Given the description of an element on the screen output the (x, y) to click on. 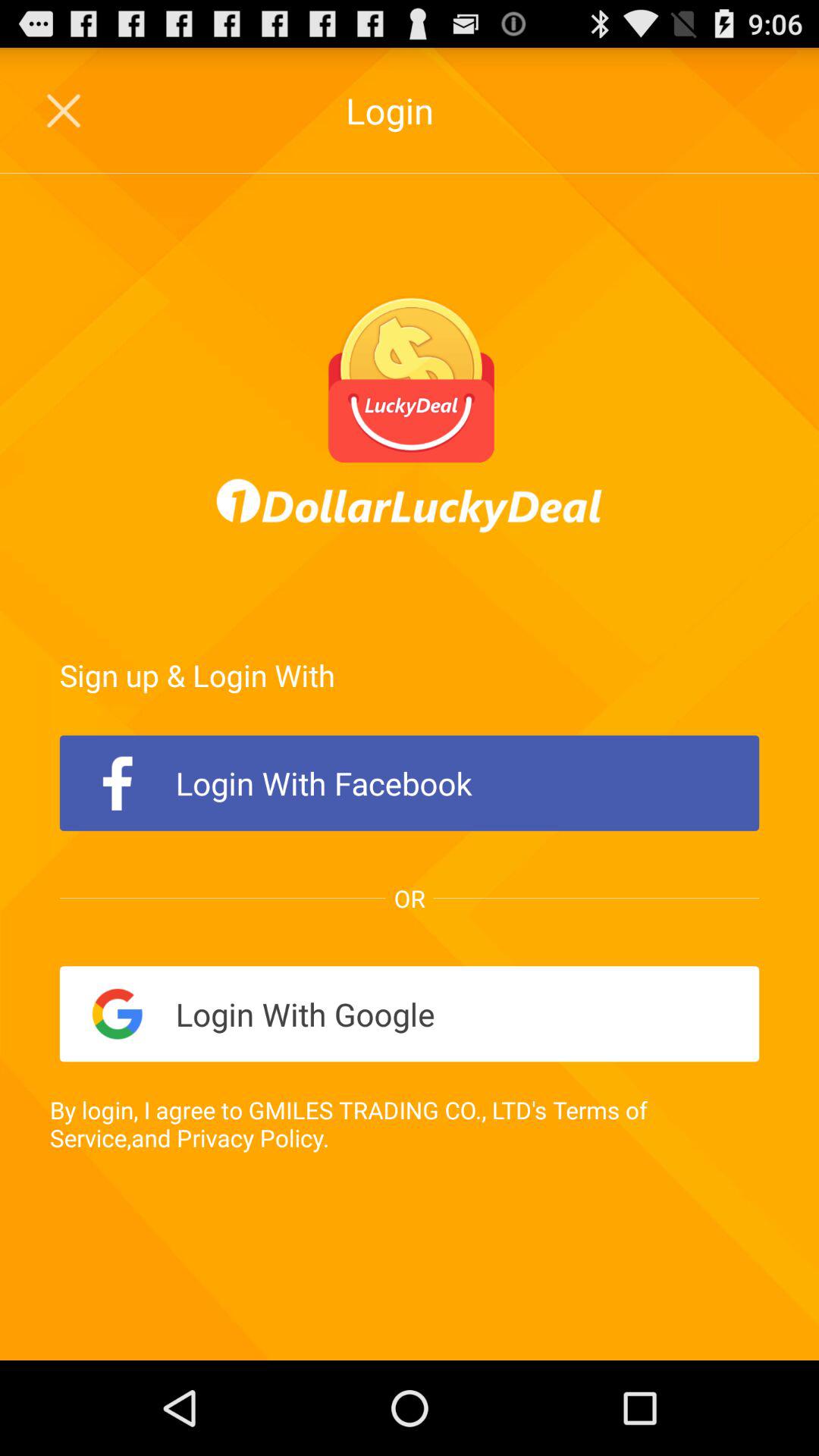
press the item at the top left corner (65, 110)
